Given the description of an element on the screen output the (x, y) to click on. 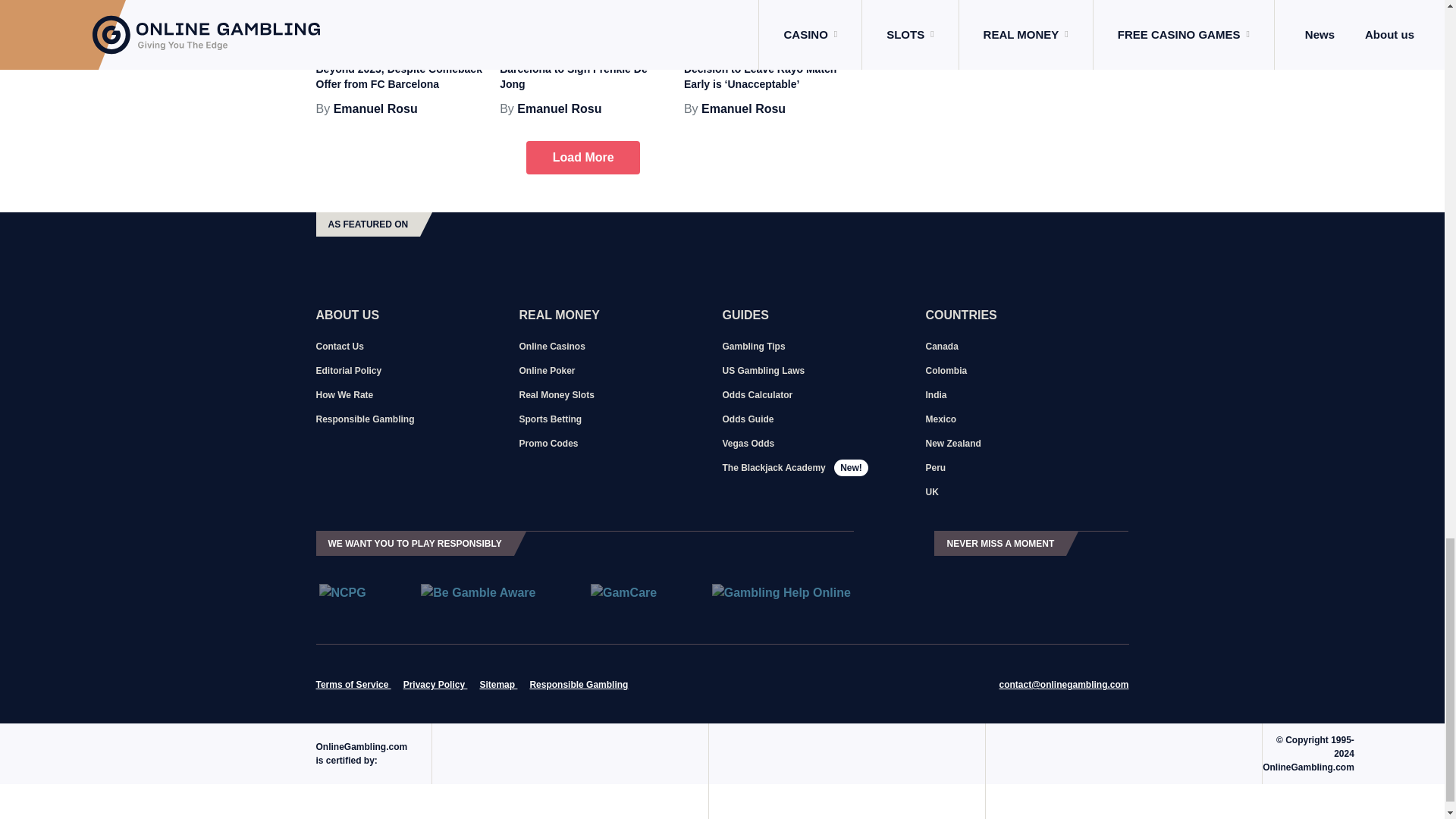
Champions League (617, 16)
Champions League (432, 16)
Champions League (802, 16)
